Given the description of an element on the screen output the (x, y) to click on. 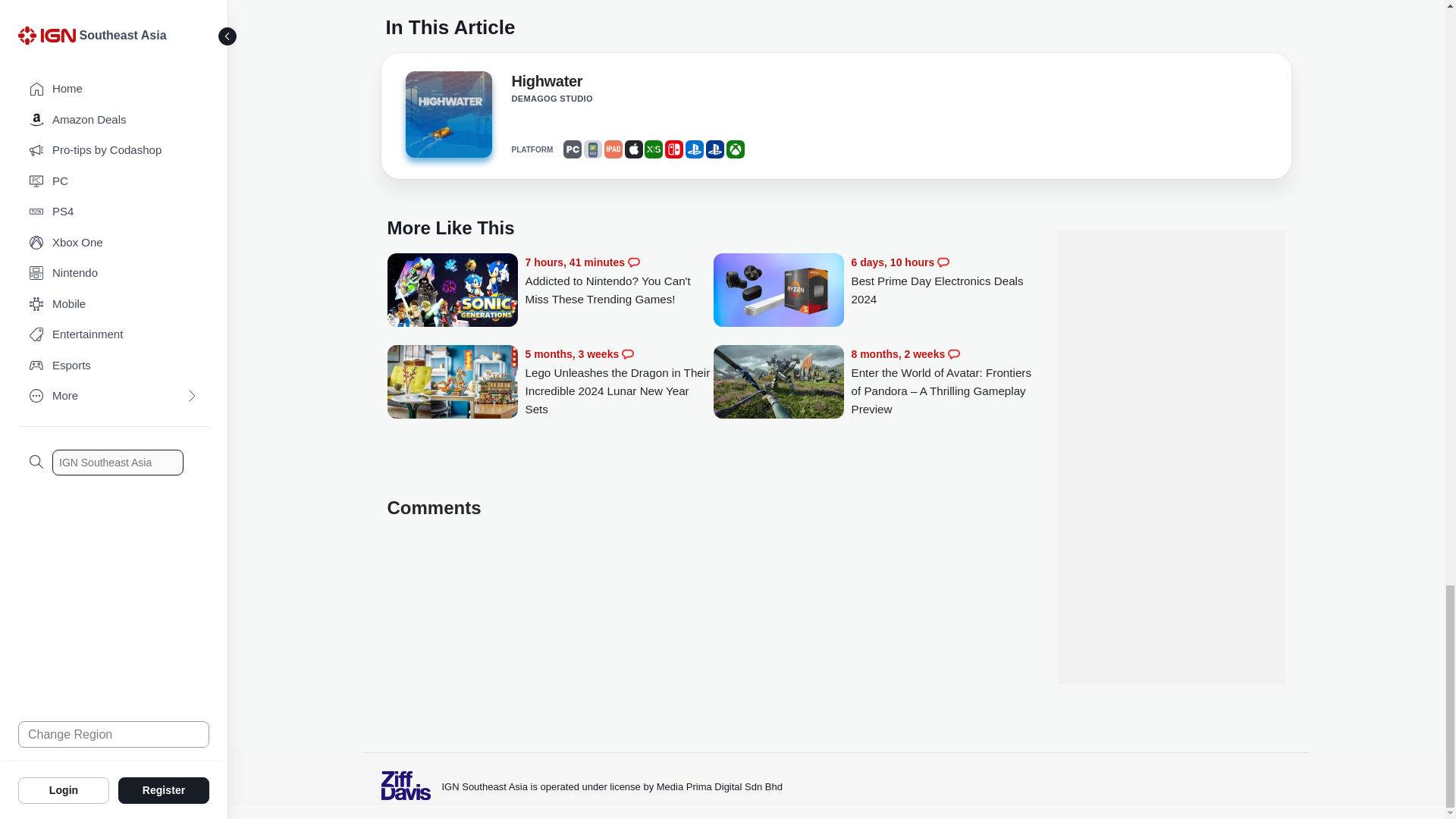
Addicted to Nintendo? You Can't Miss These Trending Games! (451, 291)
ANDROID (592, 149)
Best Prime Day Electronics Deals 2024 (944, 280)
Addicted to Nintendo? You Can't Miss These Trending Games! (618, 280)
Highwater (546, 83)
Highwater (448, 119)
PC (571, 149)
Highwater (448, 114)
Best Prime Day Electronics Deals 2024 (778, 291)
